Given the description of an element on the screen output the (x, y) to click on. 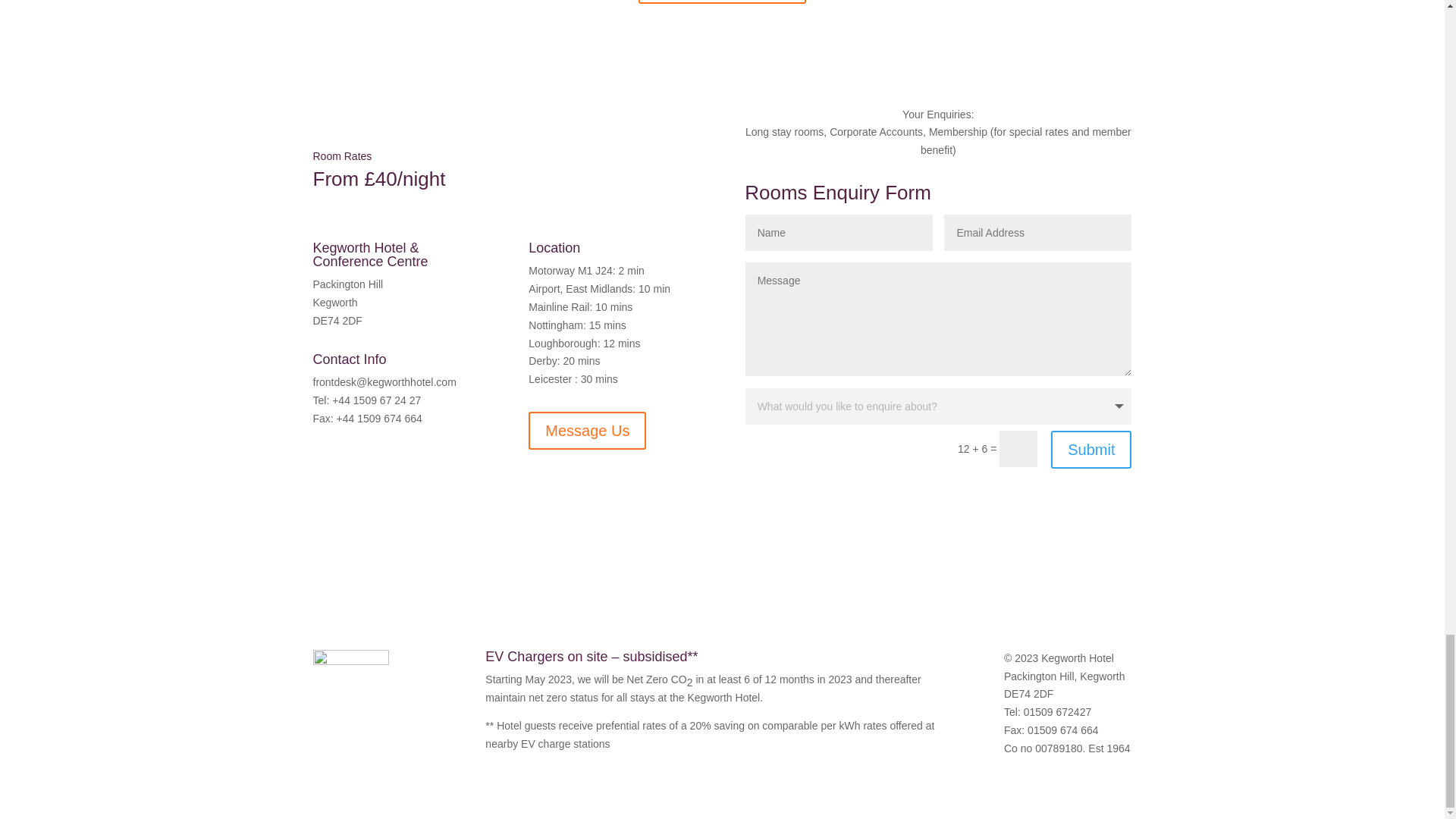
Message Us (587, 430)
Follow on Instagram (354, 506)
Make a Reservation (722, 2)
Follow on Facebook (324, 506)
Submit (1091, 449)
